Given the description of an element on the screen output the (x, y) to click on. 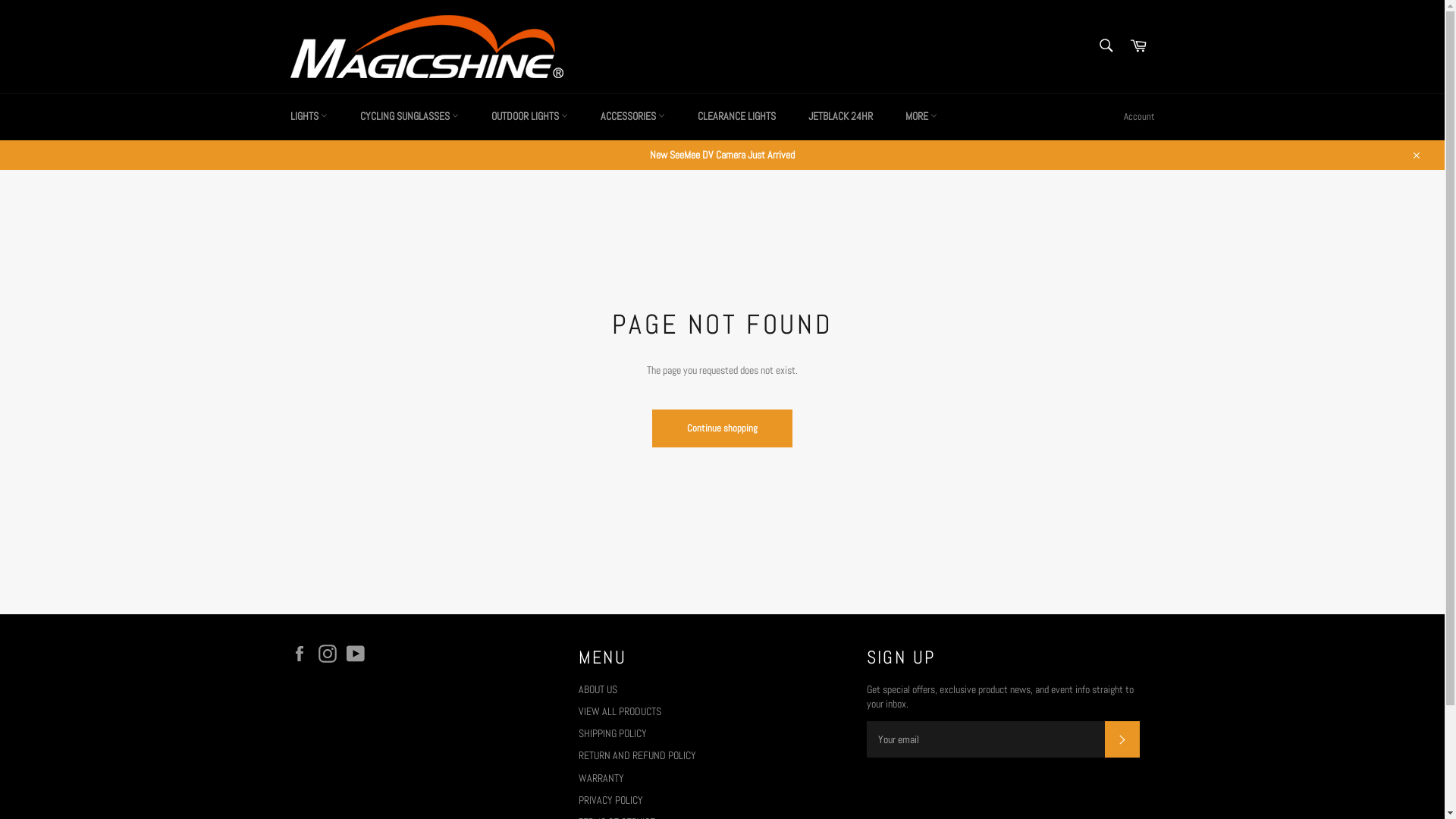
MORE Element type: text (921, 116)
YouTube Element type: text (358, 653)
ACCESSORIES Element type: text (632, 116)
Close Element type: text (1415, 154)
PRIVACY POLICY Element type: text (609, 799)
JETBLACK 24HR Element type: text (840, 116)
Search Element type: text (1105, 45)
New SeeMee DV Camera Just Arrived Element type: text (722, 154)
Instagram Element type: text (331, 653)
CLEARANCE LIGHTS Element type: text (736, 116)
LIGHTS Element type: text (308, 116)
Account Element type: text (1139, 116)
OUTDOOR LIGHTS Element type: text (529, 116)
RETURN AND REFUND POLICY Element type: text (636, 755)
SHIPPING POLICY Element type: text (611, 733)
WARRANTY Element type: text (600, 777)
CYCLING SUNGLASSES Element type: text (408, 116)
VIEW ALL PRODUCTS Element type: text (618, 711)
Subscribe Element type: text (1121, 739)
ABOUT US Element type: text (596, 689)
Facebook Element type: text (302, 653)
Cart Element type: text (1138, 46)
Continue shopping Element type: text (722, 428)
